Given the description of an element on the screen output the (x, y) to click on. 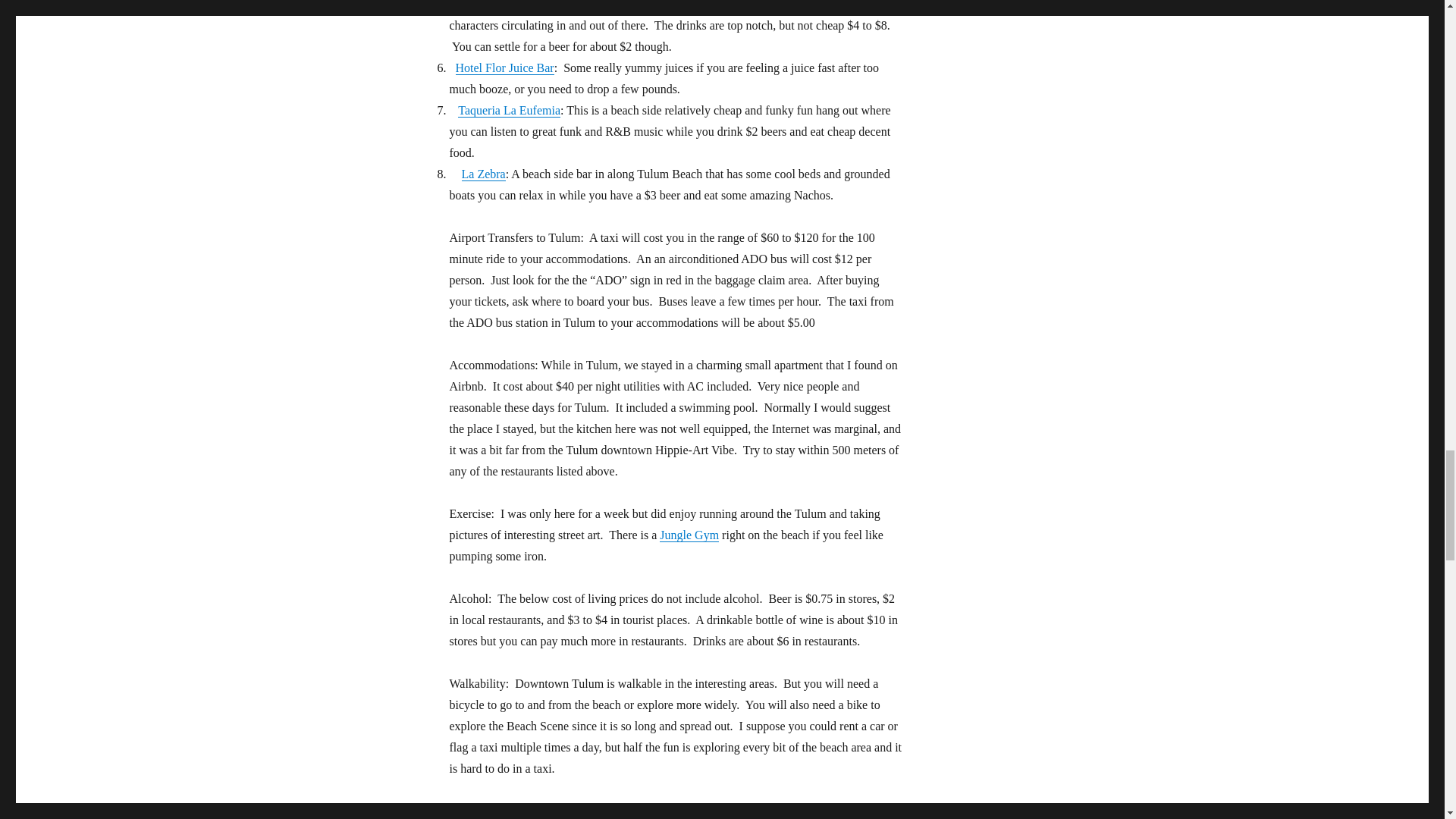
Hotel Flor Juice Bar (503, 67)
Taqueria La Eufemia (509, 110)
La Zebra (483, 173)
